Given the description of an element on the screen output the (x, y) to click on. 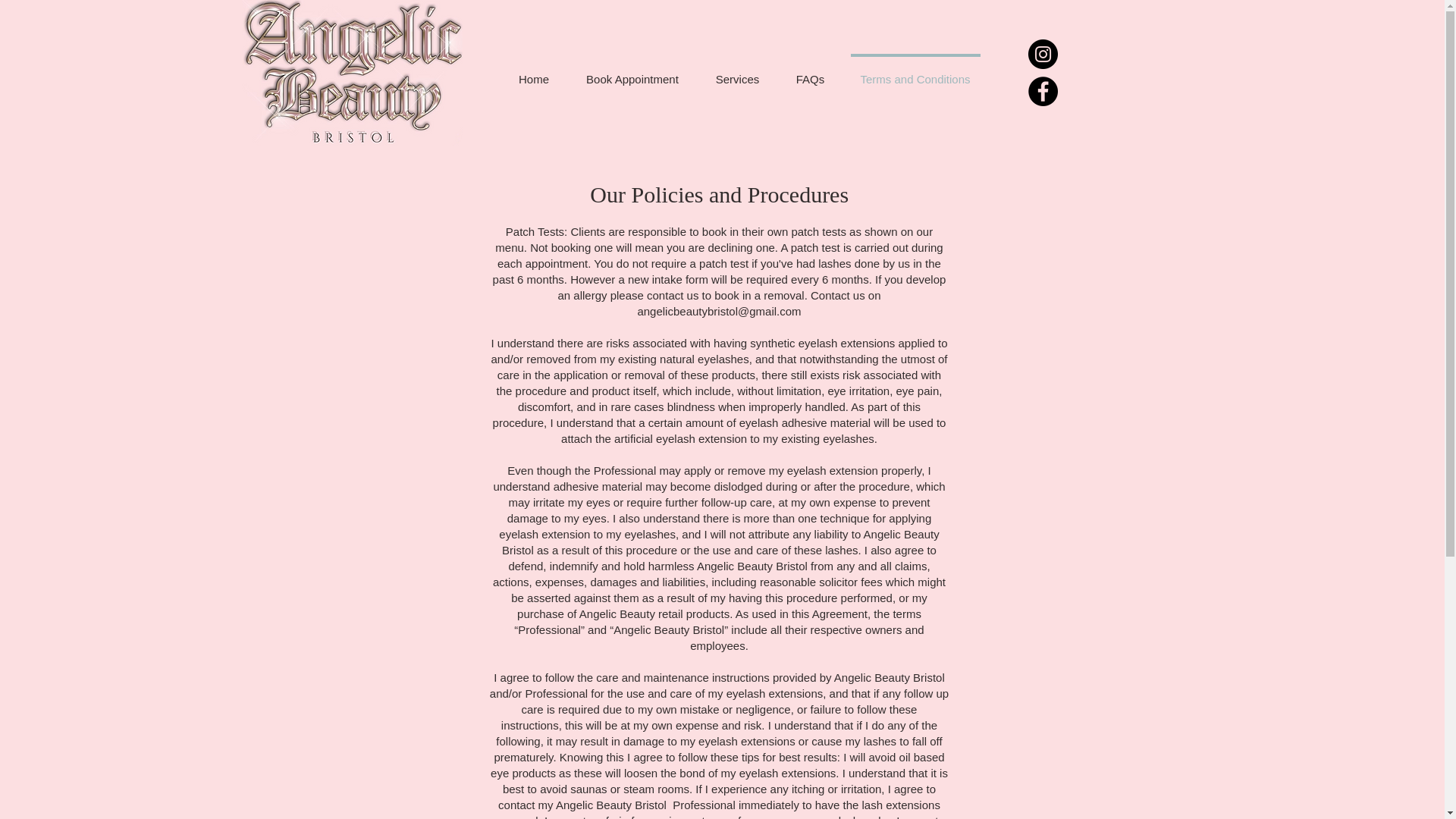
Terms and Conditions (915, 72)
FAQs (810, 72)
Book Appointment (632, 72)
Home (533, 72)
Services (737, 72)
